Given the description of an element on the screen output the (x, y) to click on. 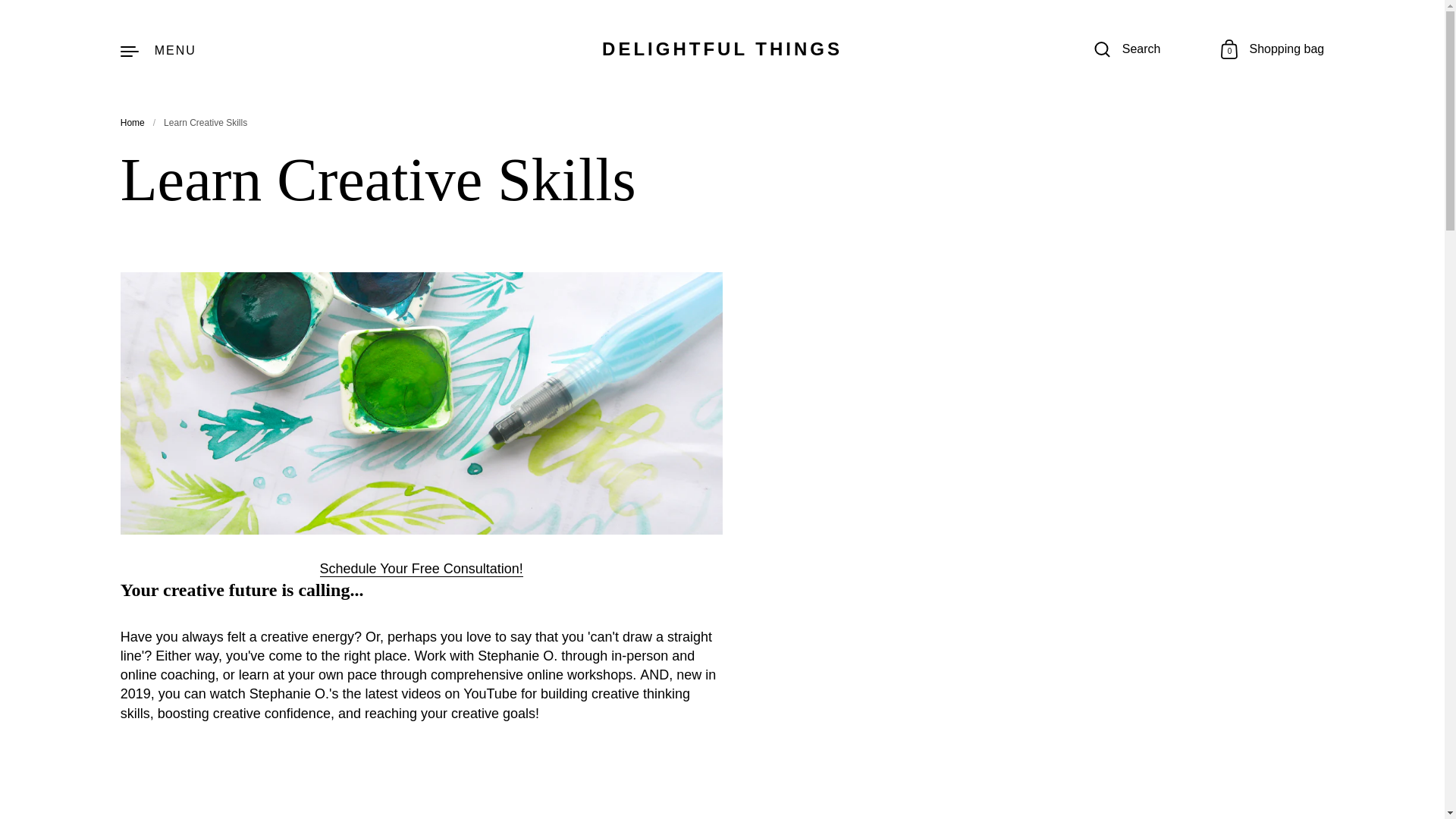
Search (1127, 49)
MENU (1272, 49)
Home (158, 49)
DELIGHTFUL THINGS (132, 122)
Schedule Your Free Consultation! (722, 48)
Delightful Things (421, 569)
